Given the description of an element on the screen output the (x, y) to click on. 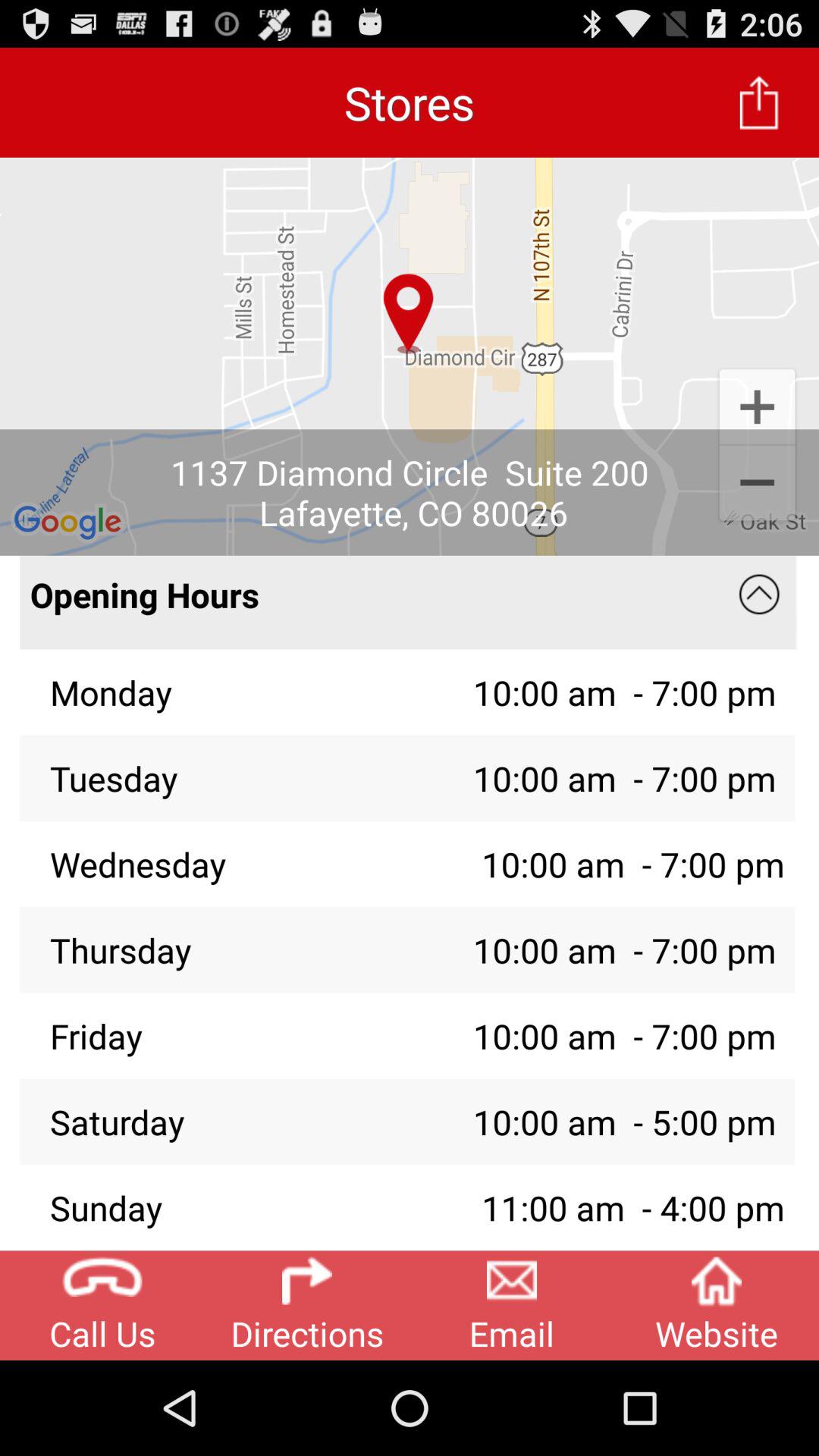
scroll until website app (716, 1305)
